Given the description of an element on the screen output the (x, y) to click on. 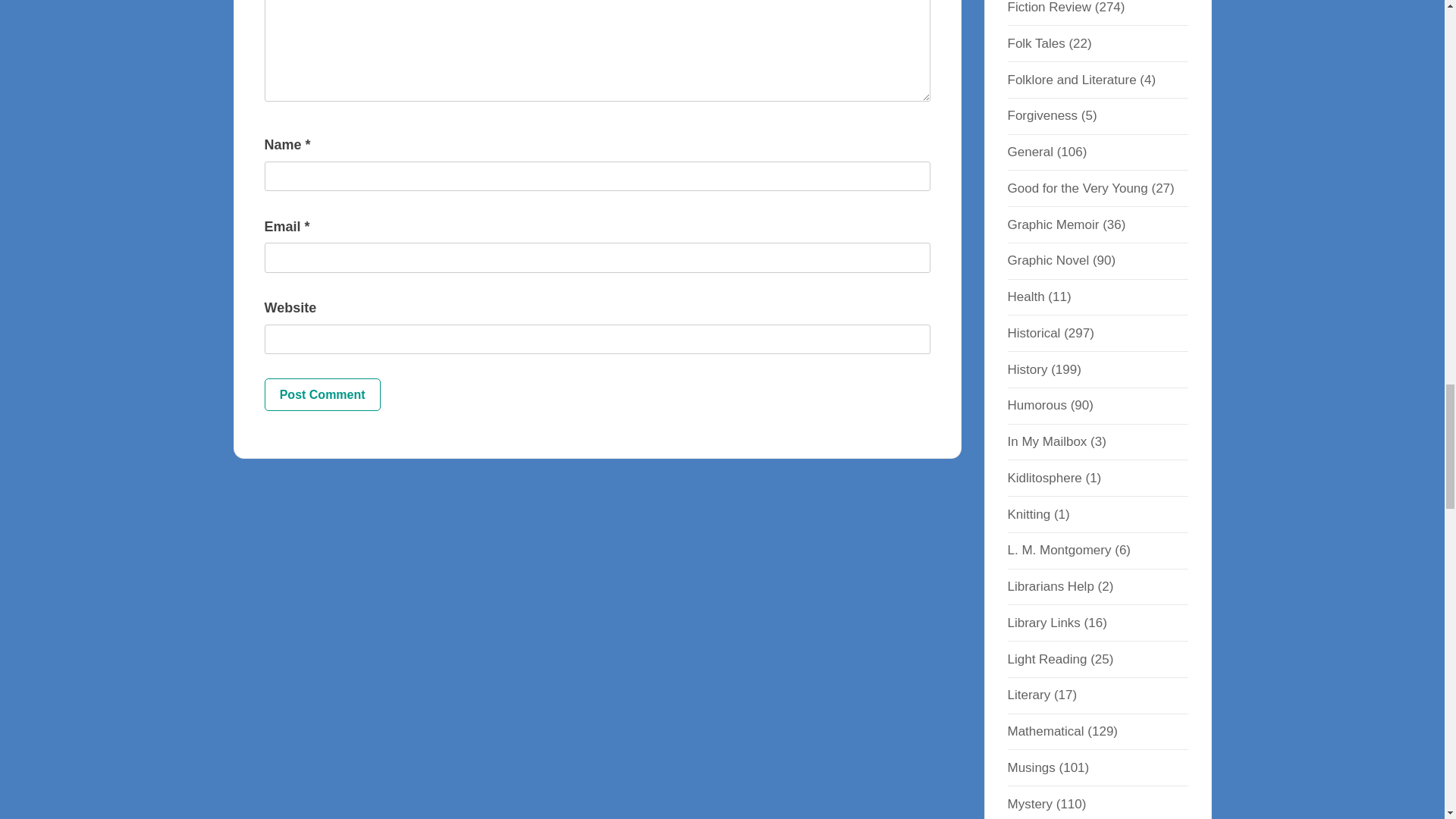
Post Comment (321, 394)
Post Comment (321, 394)
